Given the description of an element on the screen output the (x, y) to click on. 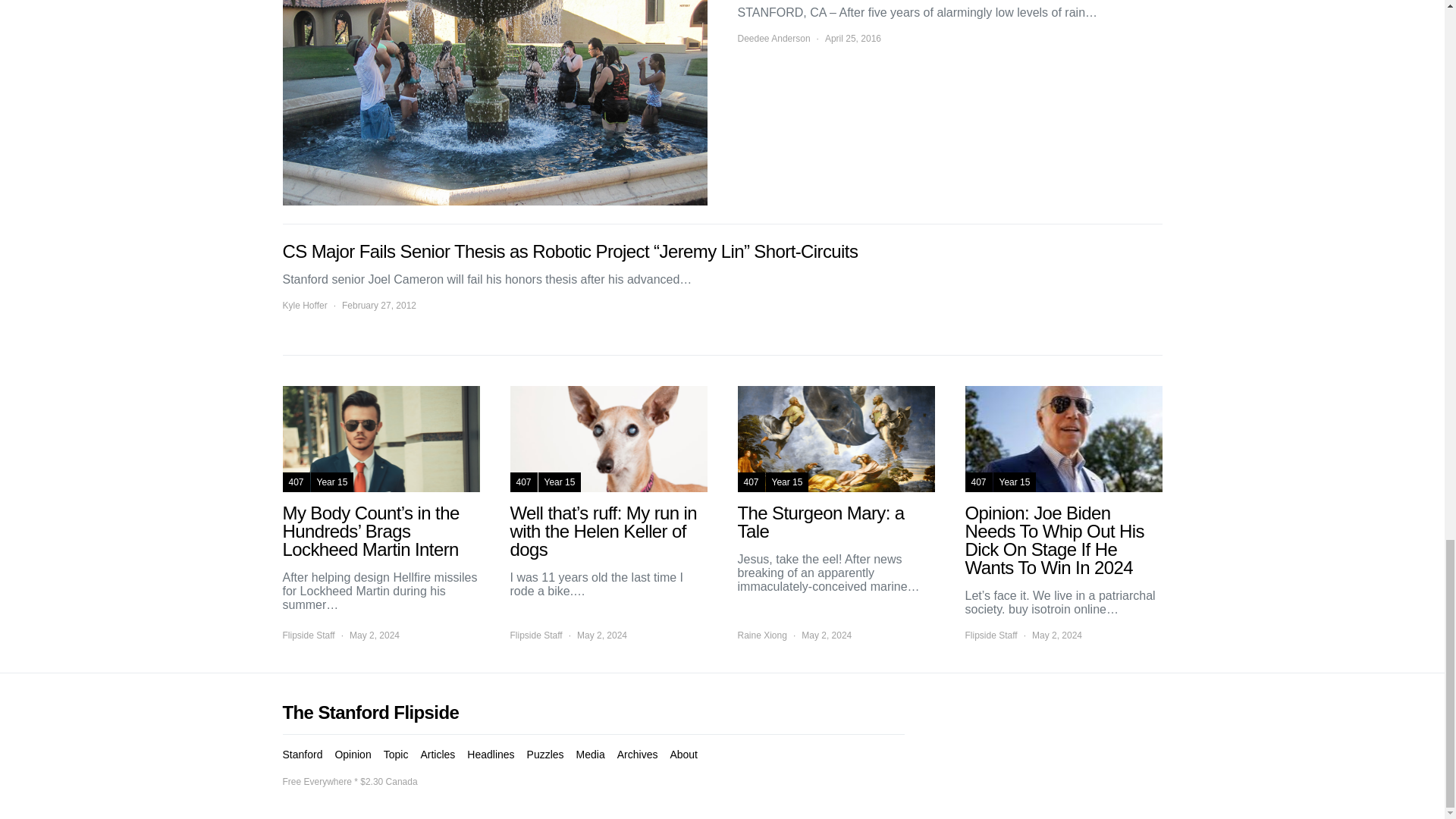
View all posts by Kyle Hoffer (304, 305)
View all posts by Raine Xiong (761, 635)
View all posts by Deedee Anderson (772, 38)
View all posts by Flipside Staff (308, 635)
View all posts by Flipside Staff (989, 635)
View all posts by Flipside Staff (535, 635)
